Given the description of an element on the screen output the (x, y) to click on. 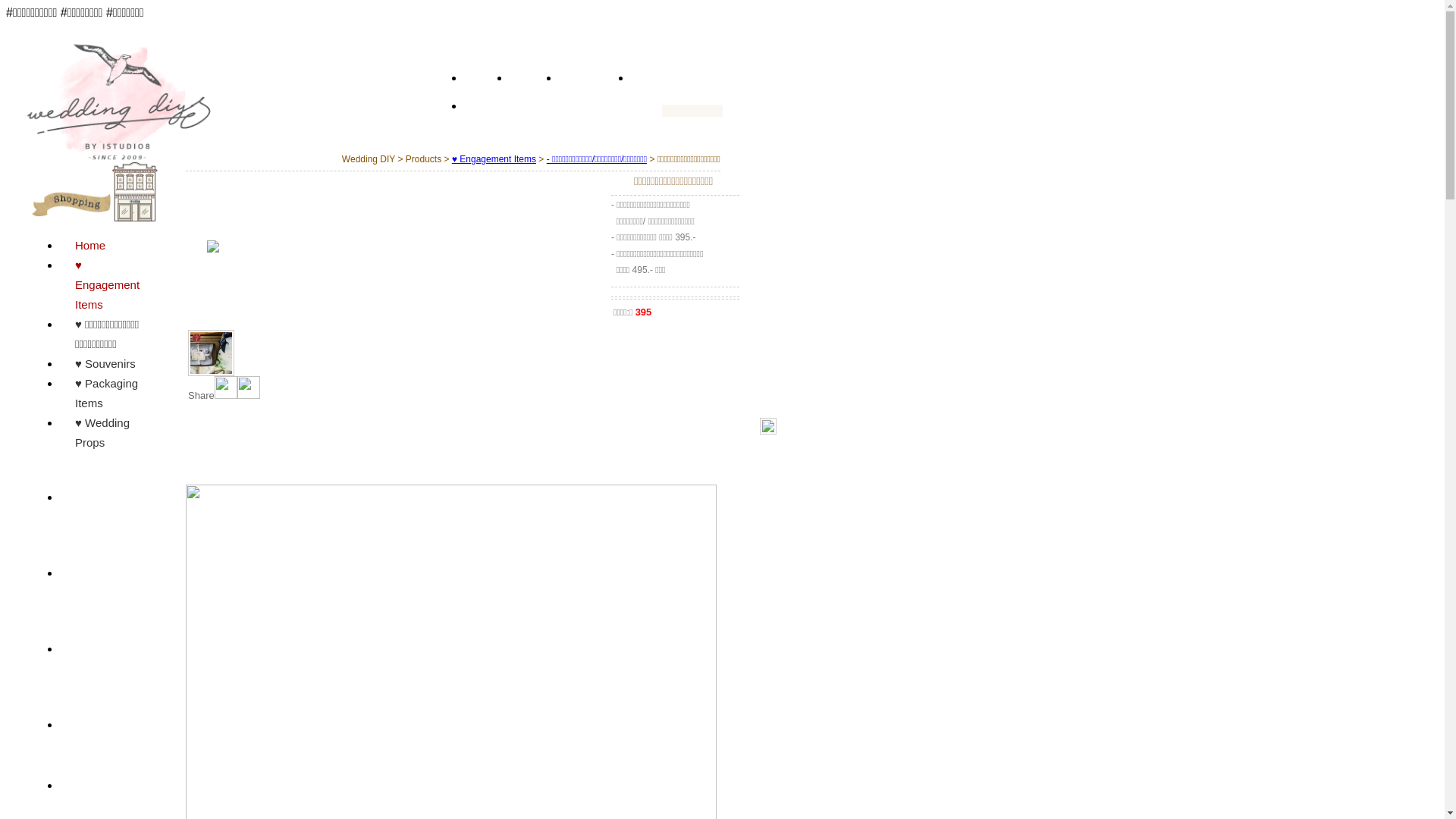
Home Element type: text (109, 245)
